Given the description of an element on the screen output the (x, y) to click on. 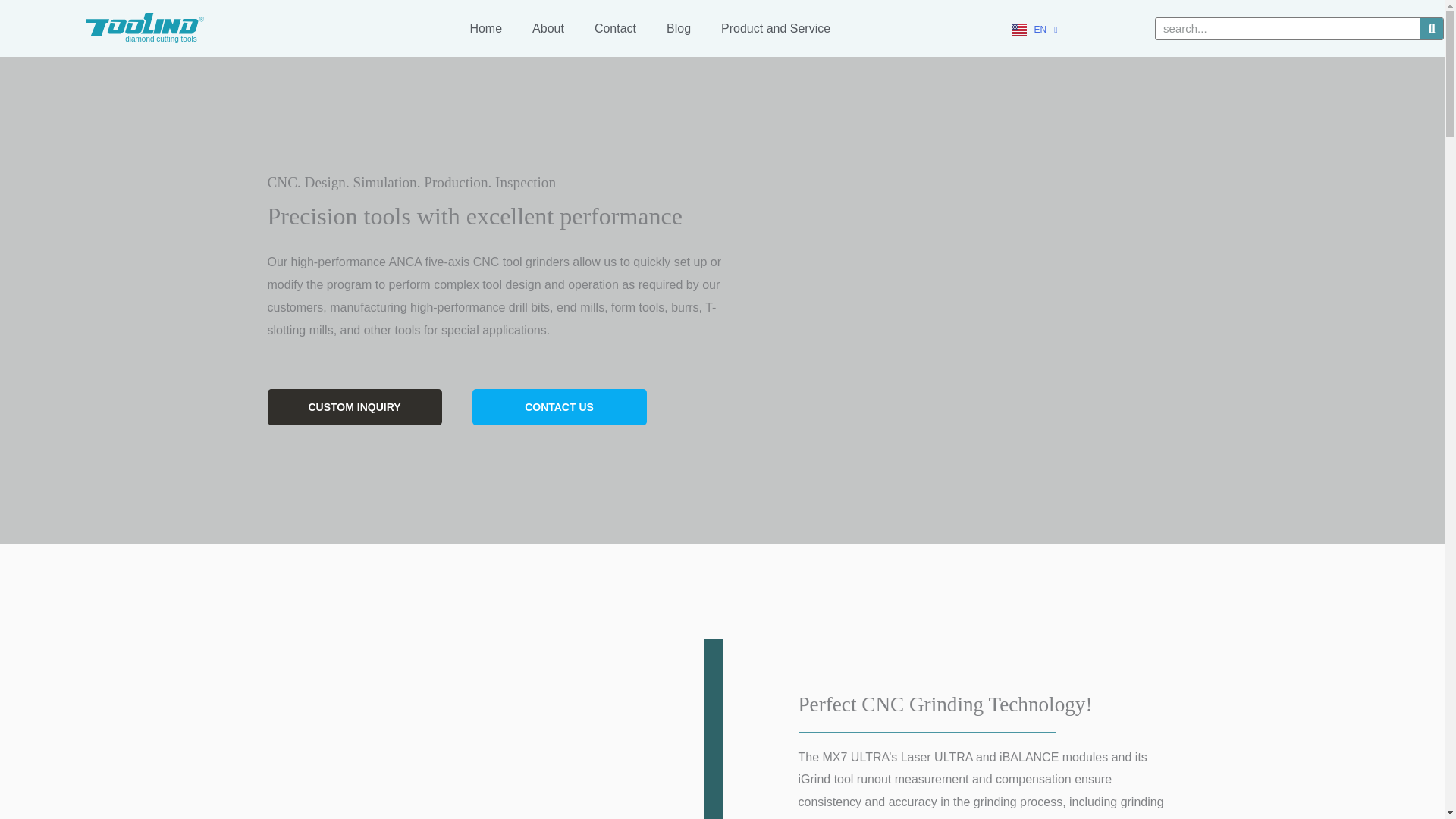
Blog (678, 27)
Contact (614, 27)
EN (1034, 29)
Product and Service (775, 27)
About (547, 27)
Home (485, 27)
